Given the description of an element on the screen output the (x, y) to click on. 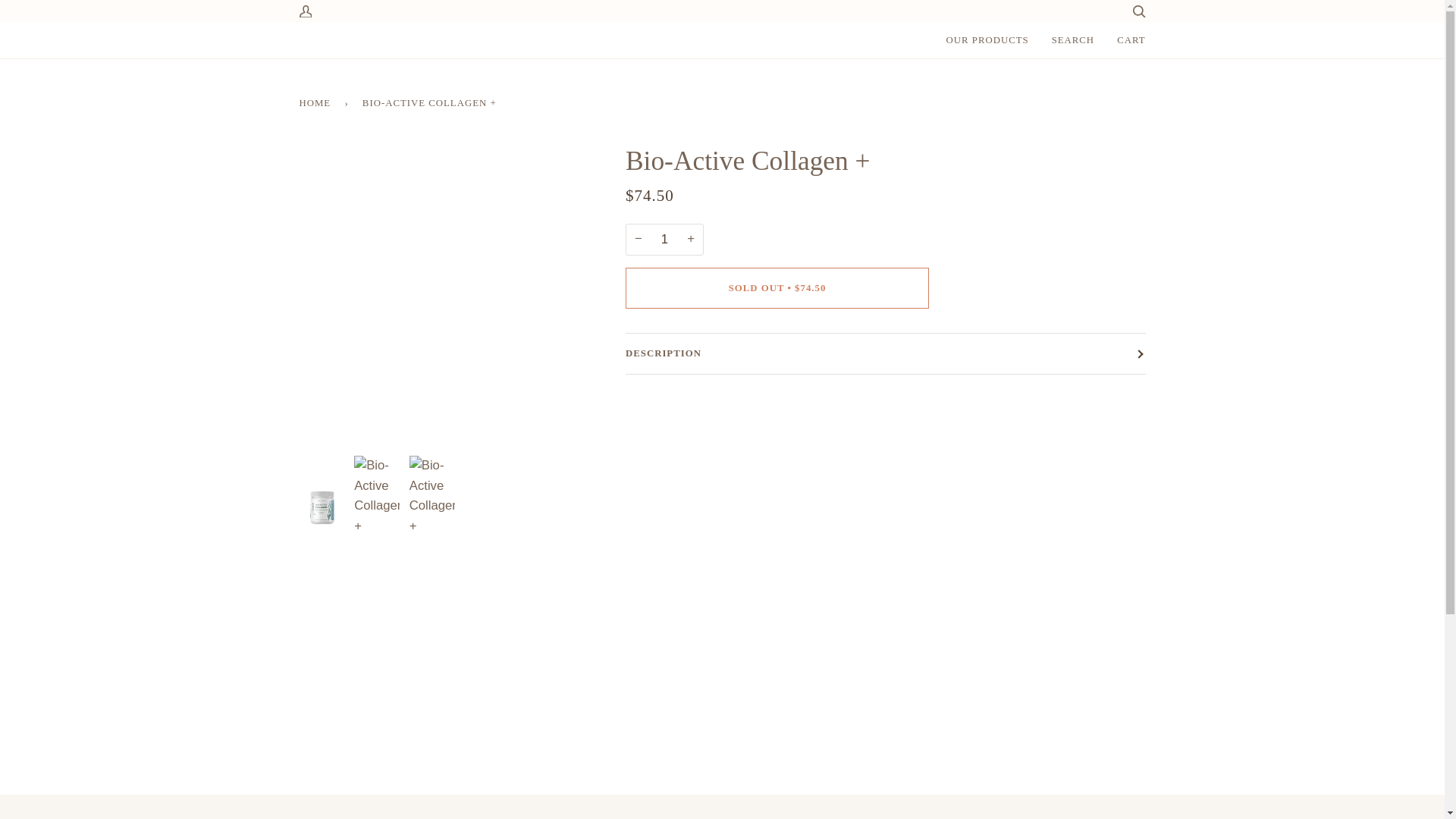
My Account (309, 13)
Back to the frontpage (317, 103)
1 (664, 239)
HOME (317, 103)
Search (1133, 13)
OUR PRODUCTS (987, 40)
SEARCH (1073, 40)
CART (1130, 40)
